Given the description of an element on the screen output the (x, y) to click on. 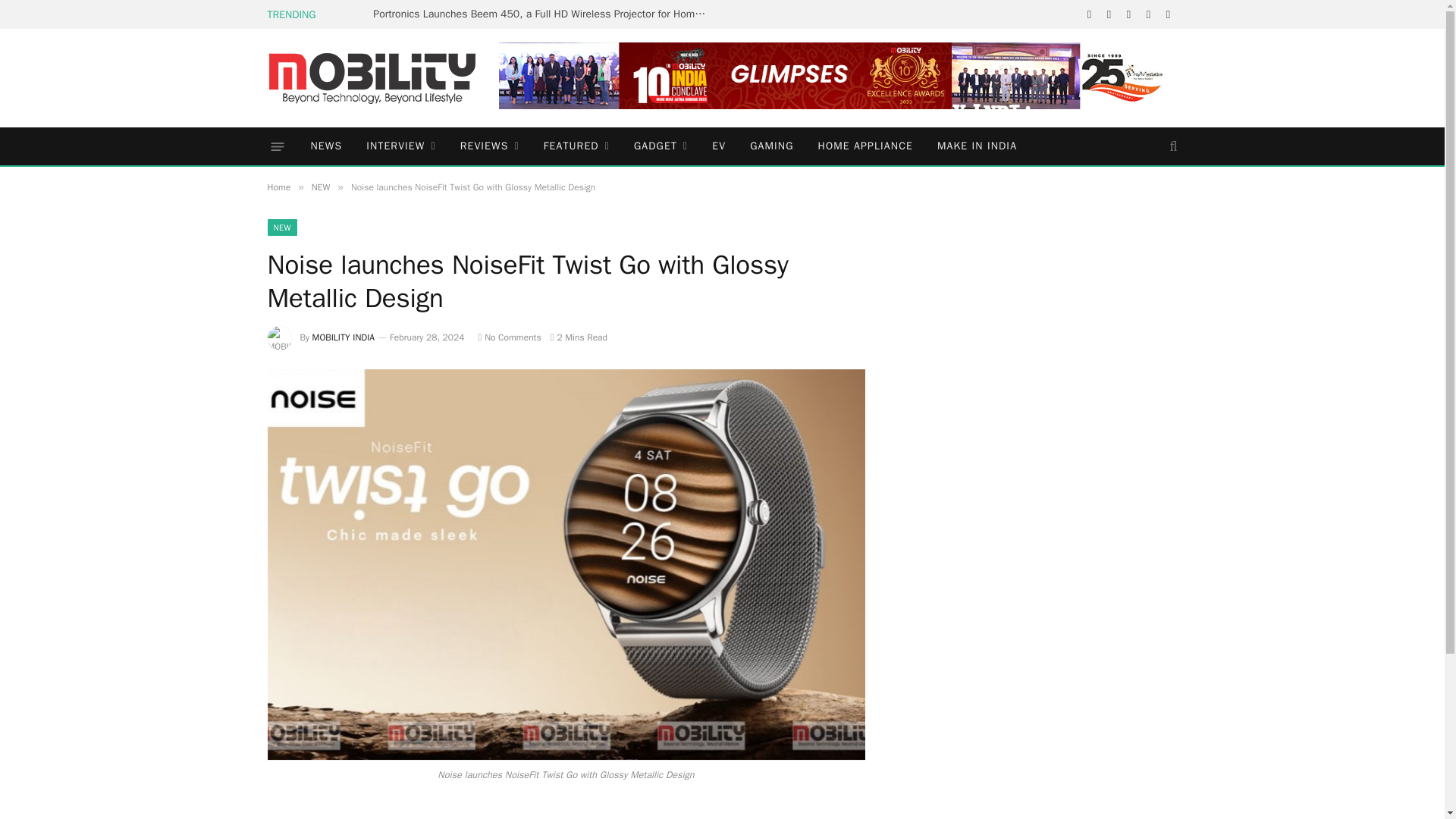
Posts by MOBILITY INDIA (344, 337)
Mobility India (371, 77)
